Given the description of an element on the screen output the (x, y) to click on. 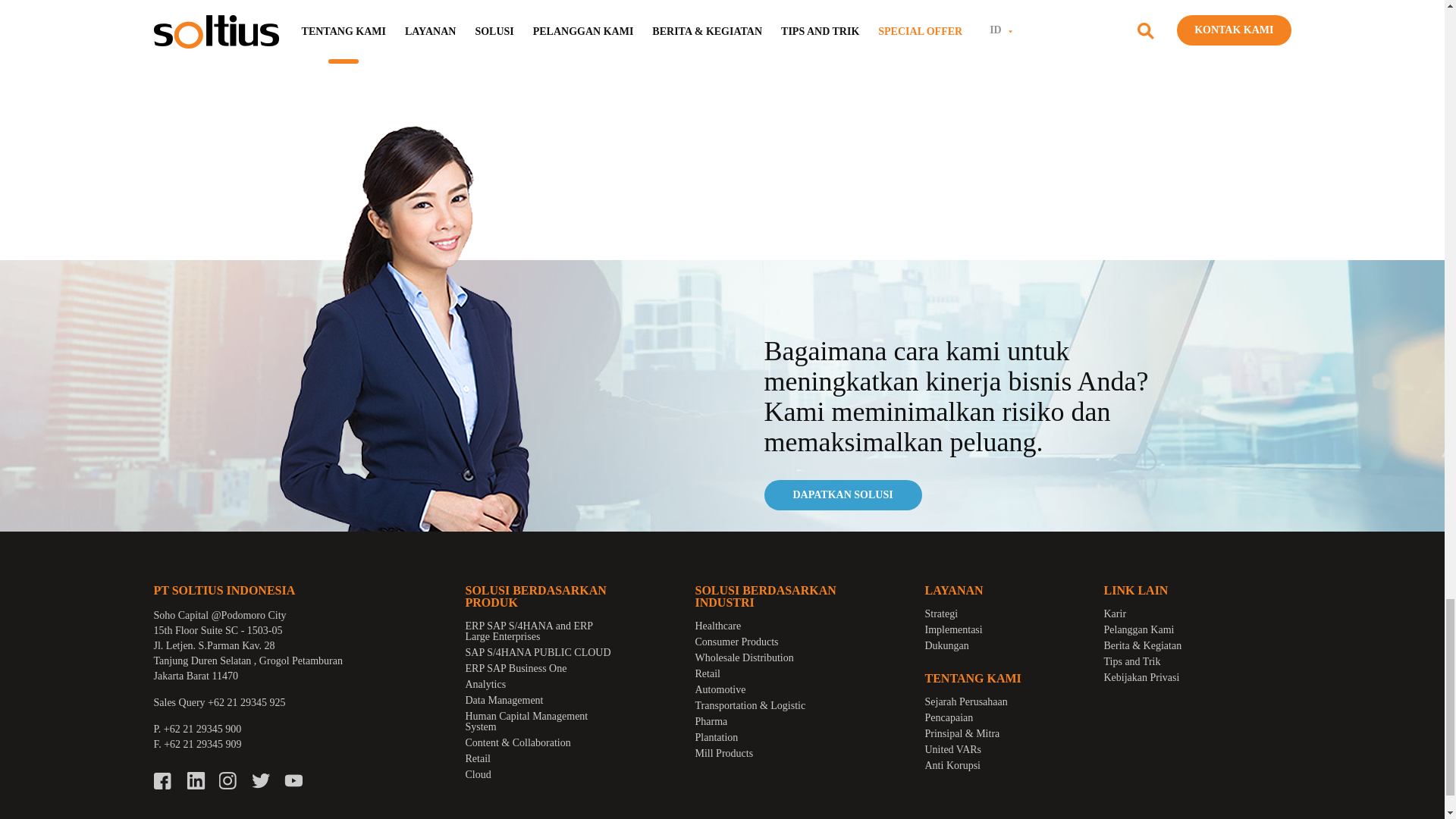
www.united-vars.com (721, 1)
